Given the description of an element on the screen output the (x, y) to click on. 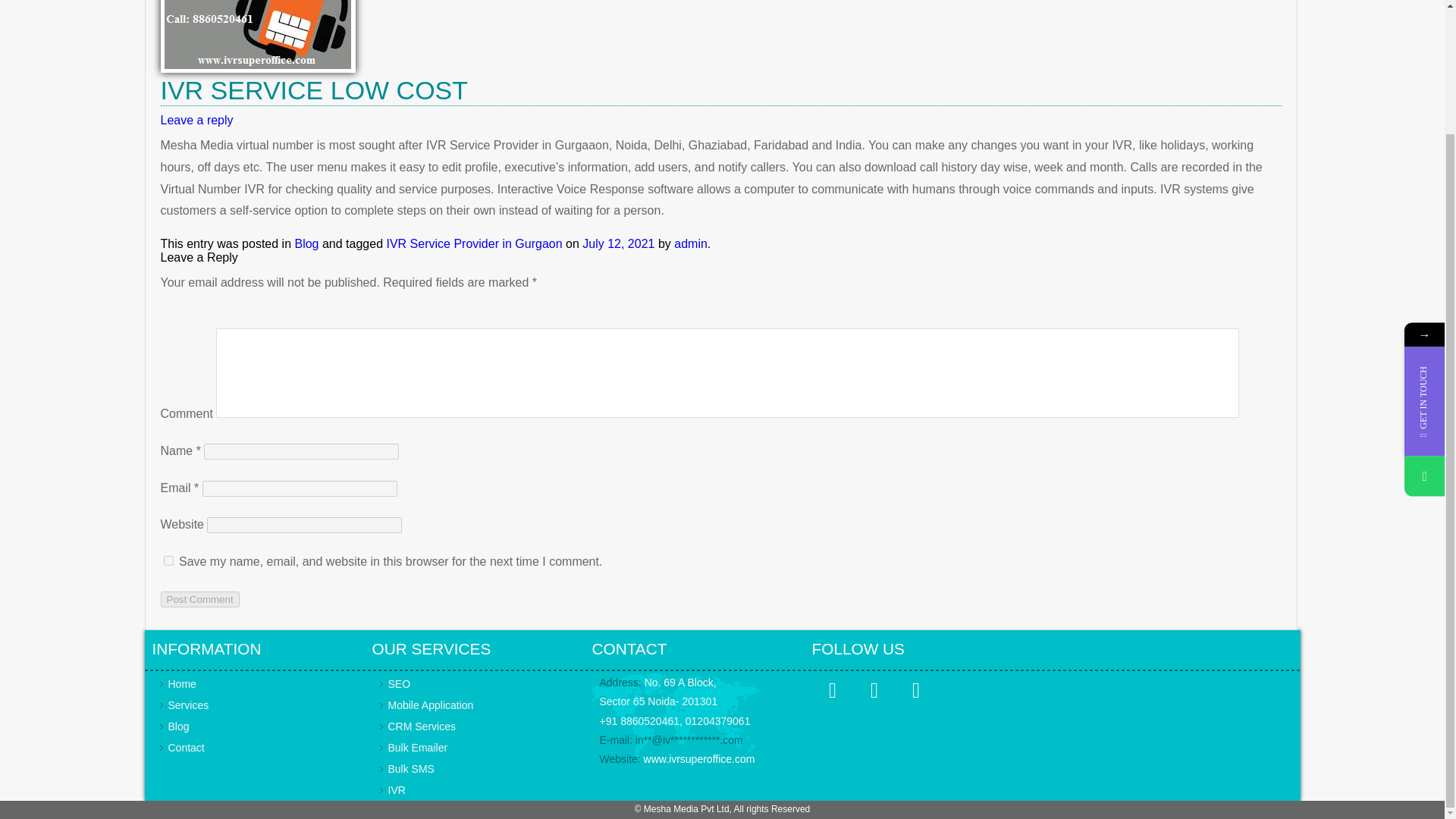
Bulk SMS (410, 768)
Contact (186, 747)
IVR Service Provider in Gurgaon (473, 243)
July 12, 2021 (617, 243)
Mobile Application (431, 705)
Home (182, 684)
CRM Services (421, 726)
IVR (397, 789)
yes (168, 560)
Post Comment (200, 599)
Bulk Emailer (418, 747)
Leave a reply (196, 119)
Services (188, 705)
SEO (399, 684)
9:32 am (617, 243)
